Given the description of an element on the screen output the (x, y) to click on. 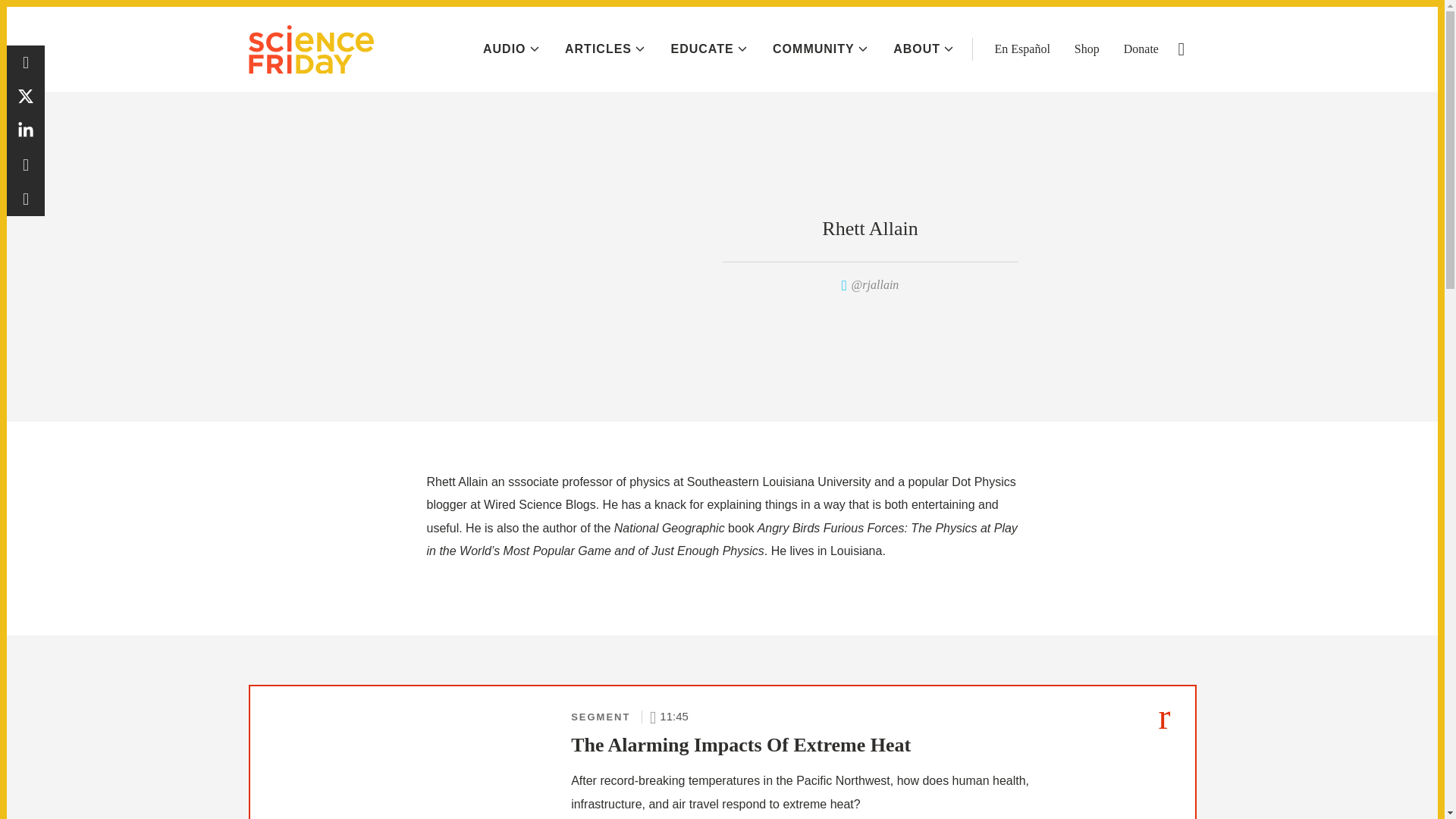
Science Friday (311, 49)
Facebook (26, 62)
ARTICLES (604, 48)
ABOUT (923, 48)
Email (26, 198)
Reddit (26, 164)
Facebook (26, 62)
Twitter (26, 96)
LinkedIn (26, 130)
LinkedIn (26, 130)
Donate (1141, 48)
Segment (1164, 716)
AUDIO (510, 48)
Shop (1086, 48)
